Given the description of an element on the screen output the (x, y) to click on. 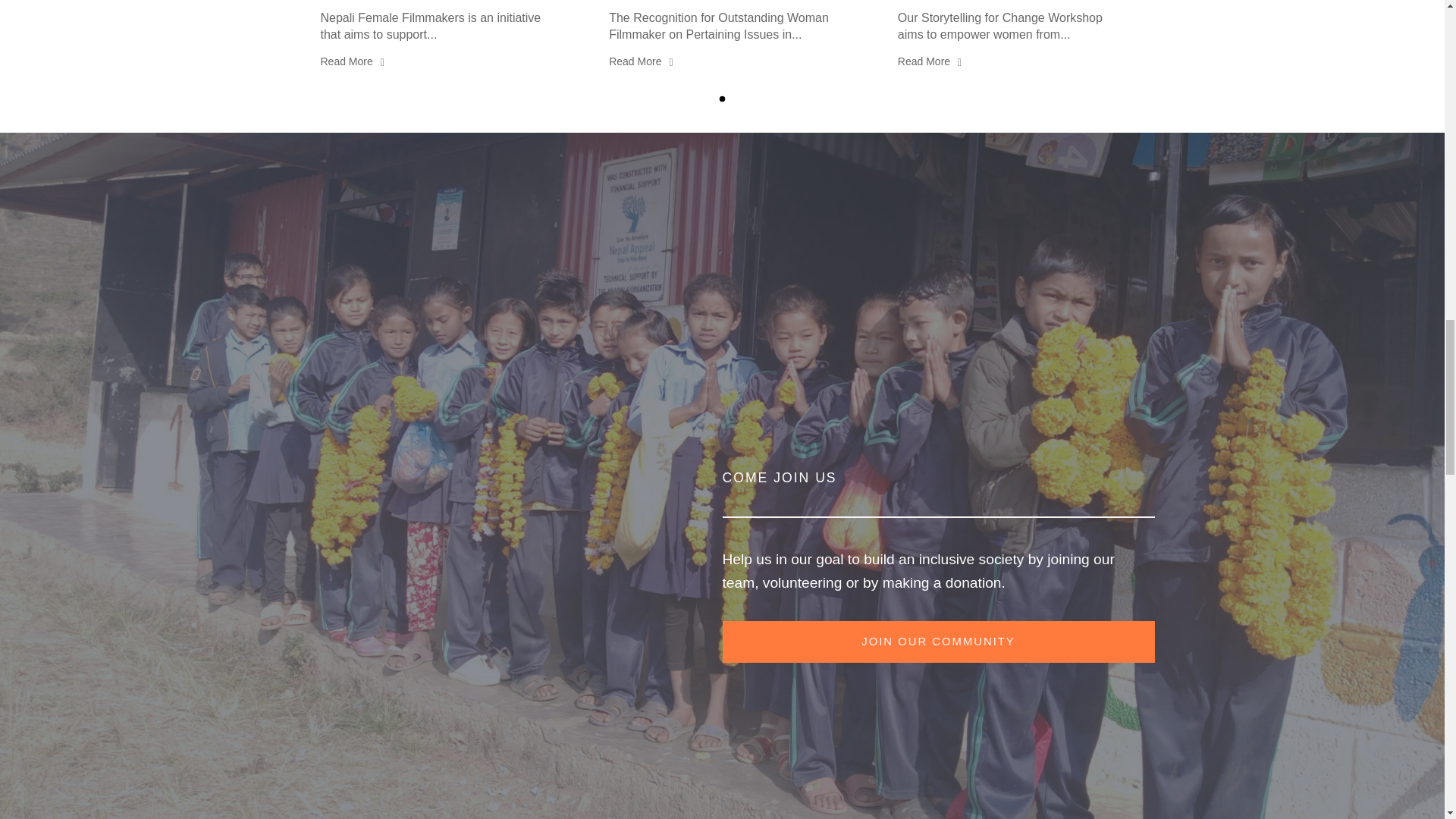
Read More (352, 61)
Read More (929, 61)
JOIN OUR COMMUNITY (938, 641)
Read More (640, 61)
